Given the description of an element on the screen output the (x, y) to click on. 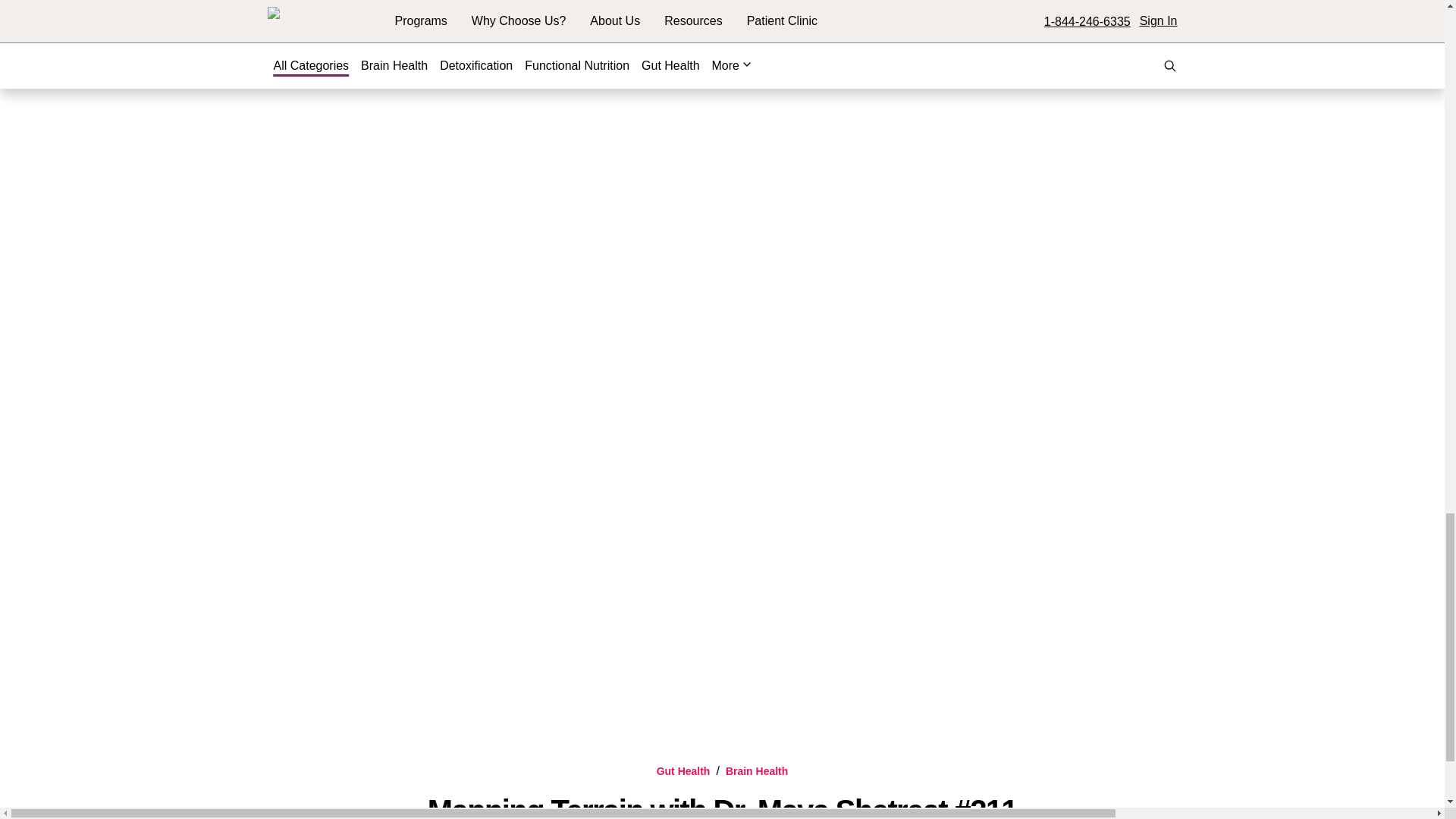
Gut Health (683, 770)
Brain Health (756, 770)
